Given the description of an element on the screen output the (x, y) to click on. 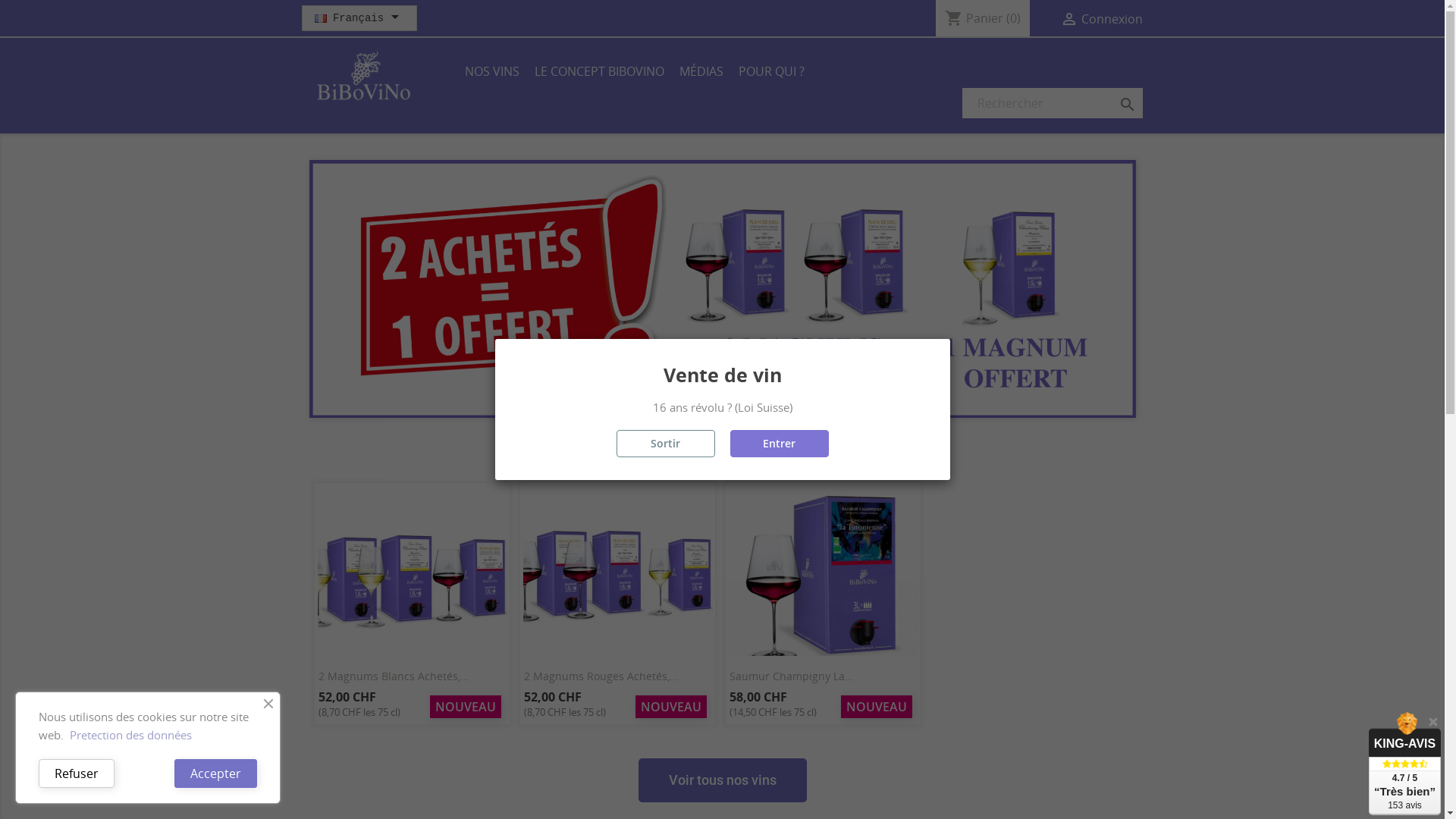
Saumur Champigny La... Element type: text (788, 675)
LE CONCEPT BIBOVINO Element type: text (598, 72)
Entrer Element type: text (778, 443)
Accepter Element type: text (215, 773)
Sortir Element type: text (664, 443)
POUR QUI ? Element type: text (771, 72)
Voir tous nos vins Element type: text (722, 780)
Refuser Element type: text (76, 773)
NOS VINS Element type: text (491, 72)
